Given the description of an element on the screen output the (x, y) to click on. 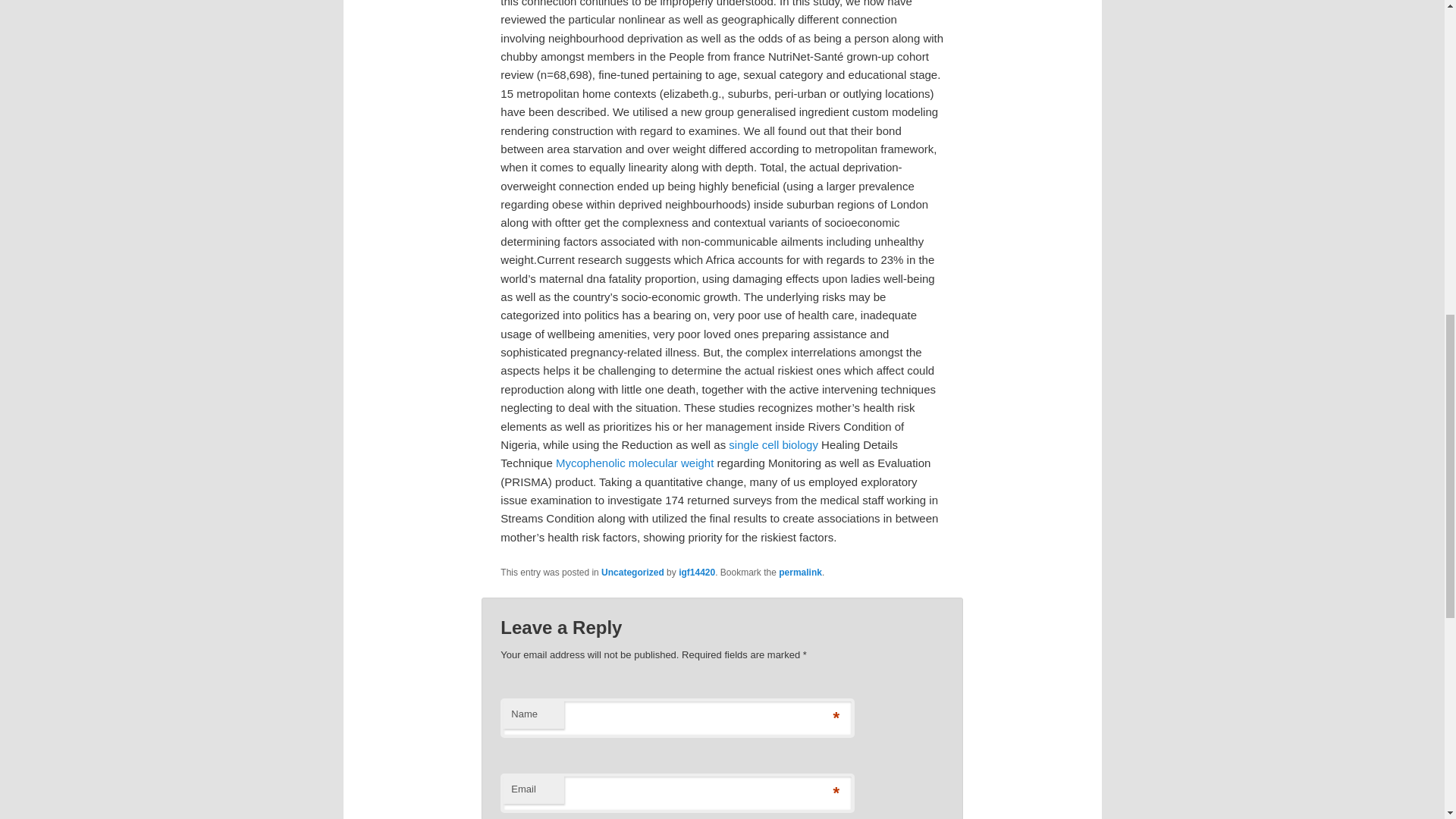
View all posts in Uncategorized (632, 572)
Mycophenolic molecular weight (634, 462)
igf14420 (696, 572)
single cell biology (773, 444)
permalink (800, 572)
Uncategorized (632, 572)
